Given the description of an element on the screen output the (x, y) to click on. 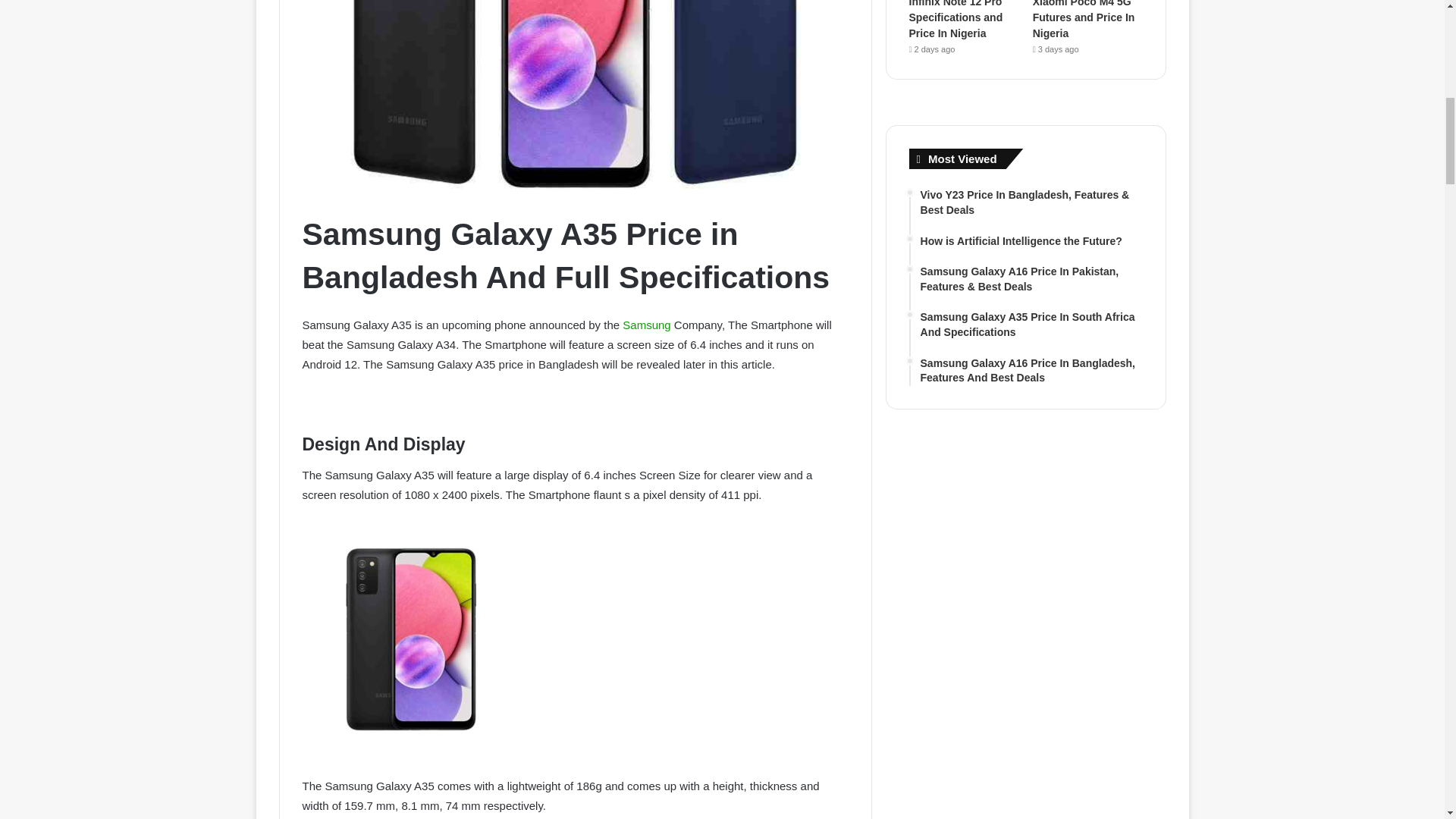
Samsung (646, 324)
